Given the description of an element on the screen output the (x, y) to click on. 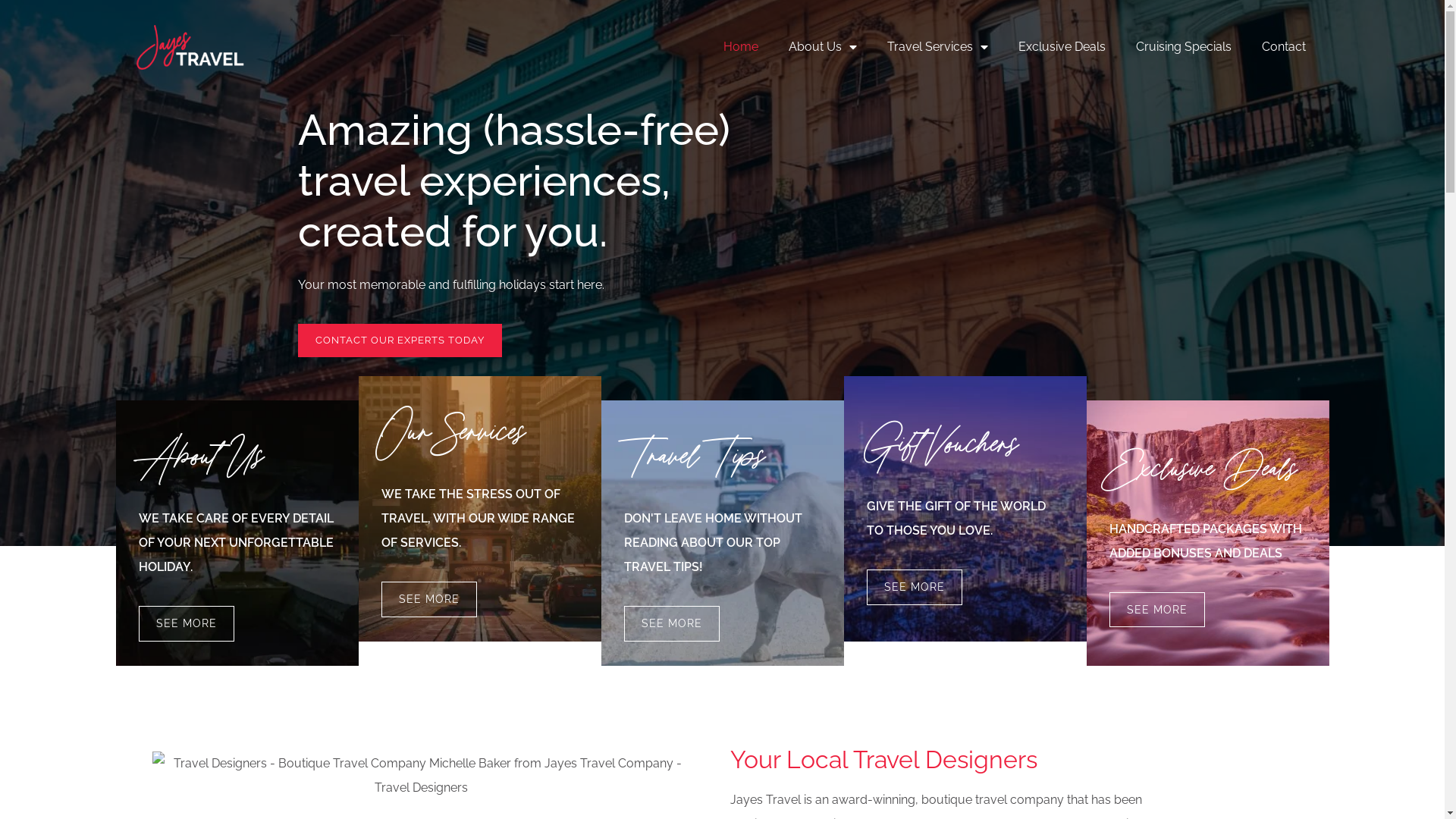
CONTACT OUR EXPERTS TODAY Element type: text (399, 340)
Home Element type: text (740, 46)
SEE MORE Element type: text (670, 622)
SEE MORE Element type: text (913, 586)
Exclusive Deals Element type: text (1061, 46)
Cruising Specials Element type: text (1183, 46)
Travel Services Element type: text (937, 46)
SEE MORE Element type: text (185, 622)
Contact Element type: text (1283, 46)
About Us Element type: text (822, 46)
SEE MORE Element type: text (428, 598)
SEE MORE Element type: text (1156, 609)
